Given the description of an element on the screen output the (x, y) to click on. 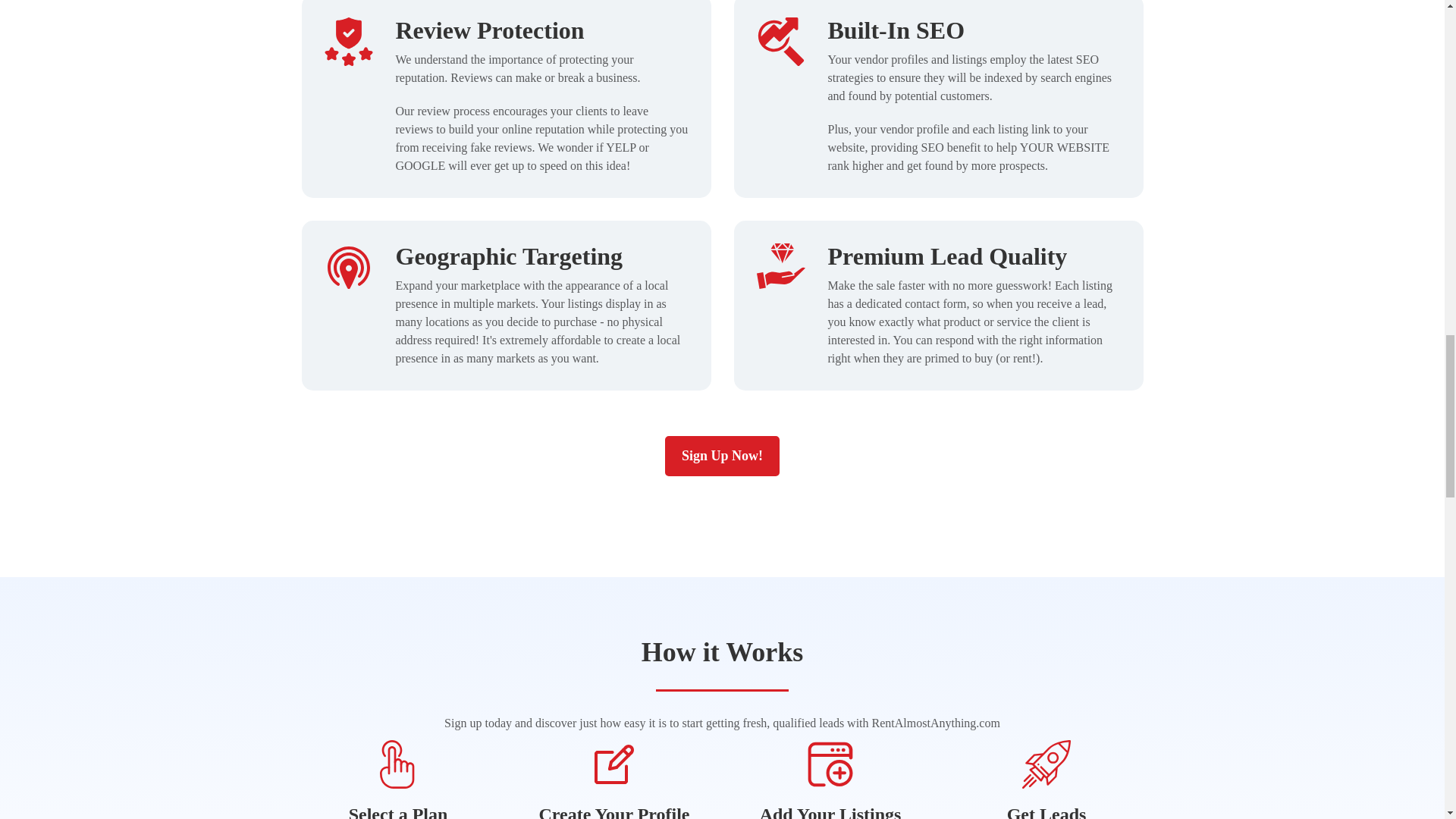
Sign Up Now! (721, 455)
